Given the description of an element on the screen output the (x, y) to click on. 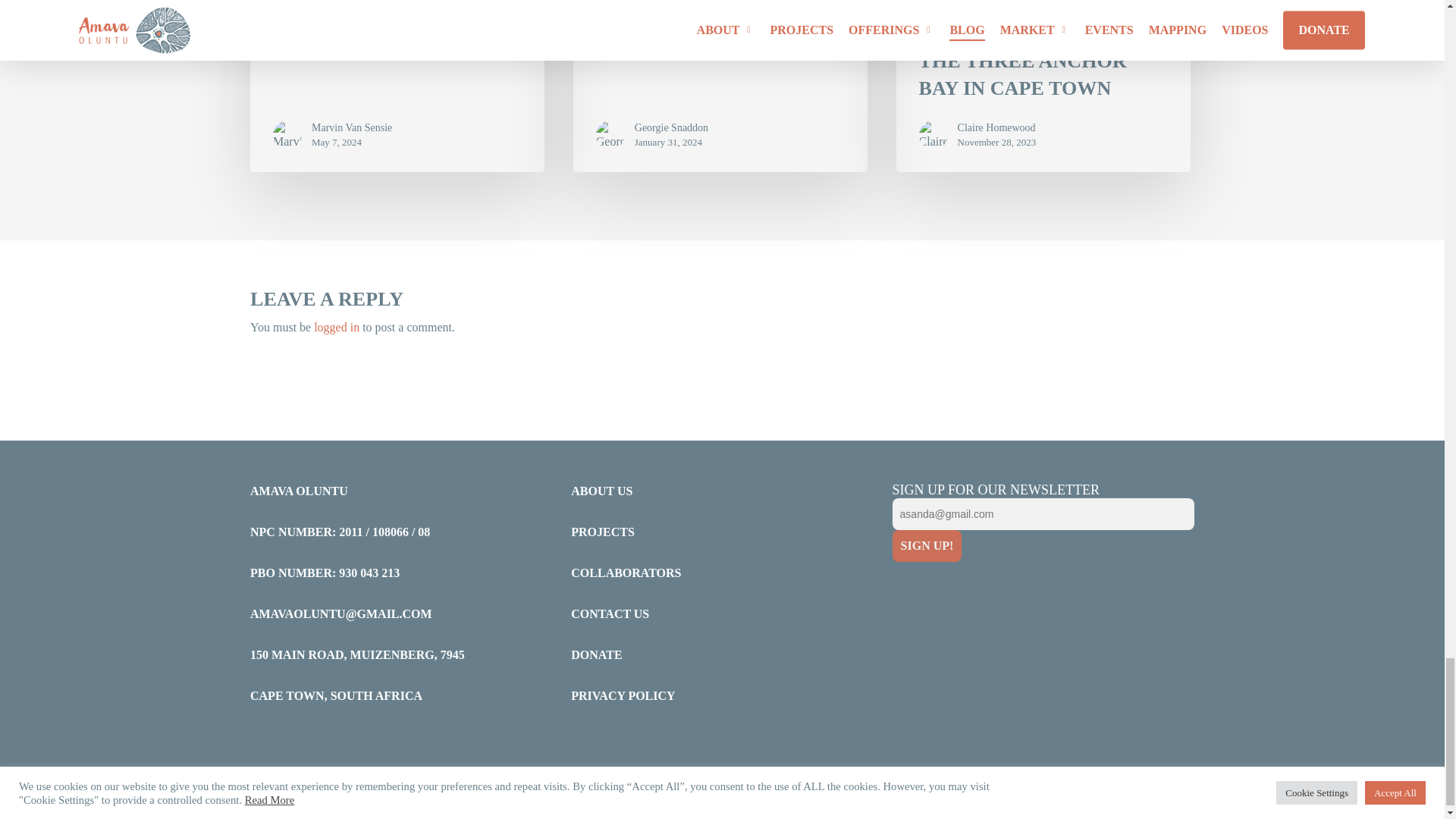
SIGN UP! (927, 545)
